Given the description of an element on the screen output the (x, y) to click on. 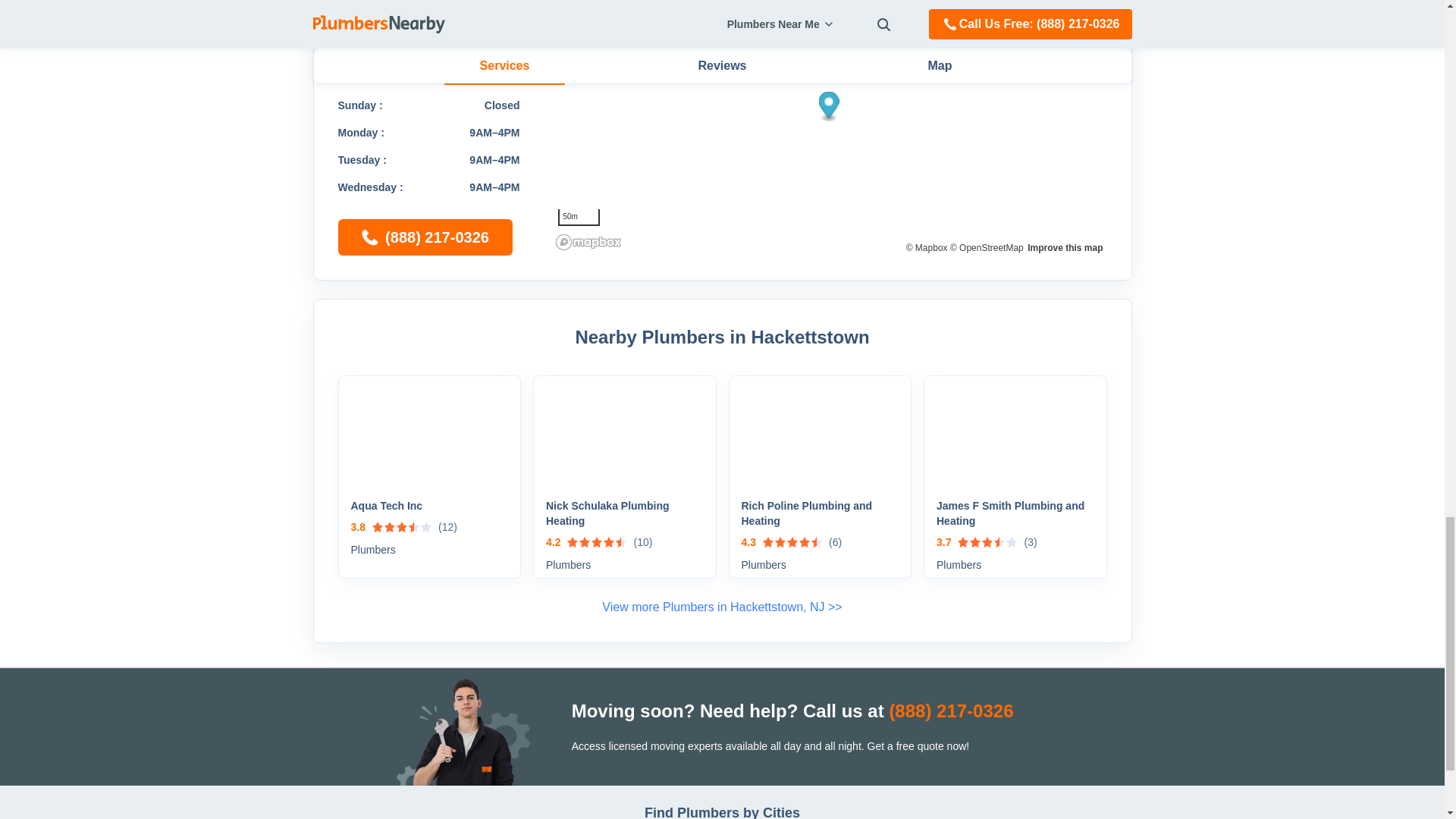
Nick Schulaka Plumbing Heating (624, 512)
OpenStreetMap (986, 247)
James F Smith Plumbing and Heating (1015, 512)
Aqua Tech Inc (429, 505)
Zoom out (1088, 20)
Mapbox (926, 247)
Rich Poline Plumbing and Heating (820, 512)
Reset bearing to north (1088, 42)
Zoom in (1088, 4)
